Given the description of an element on the screen output the (x, y) to click on. 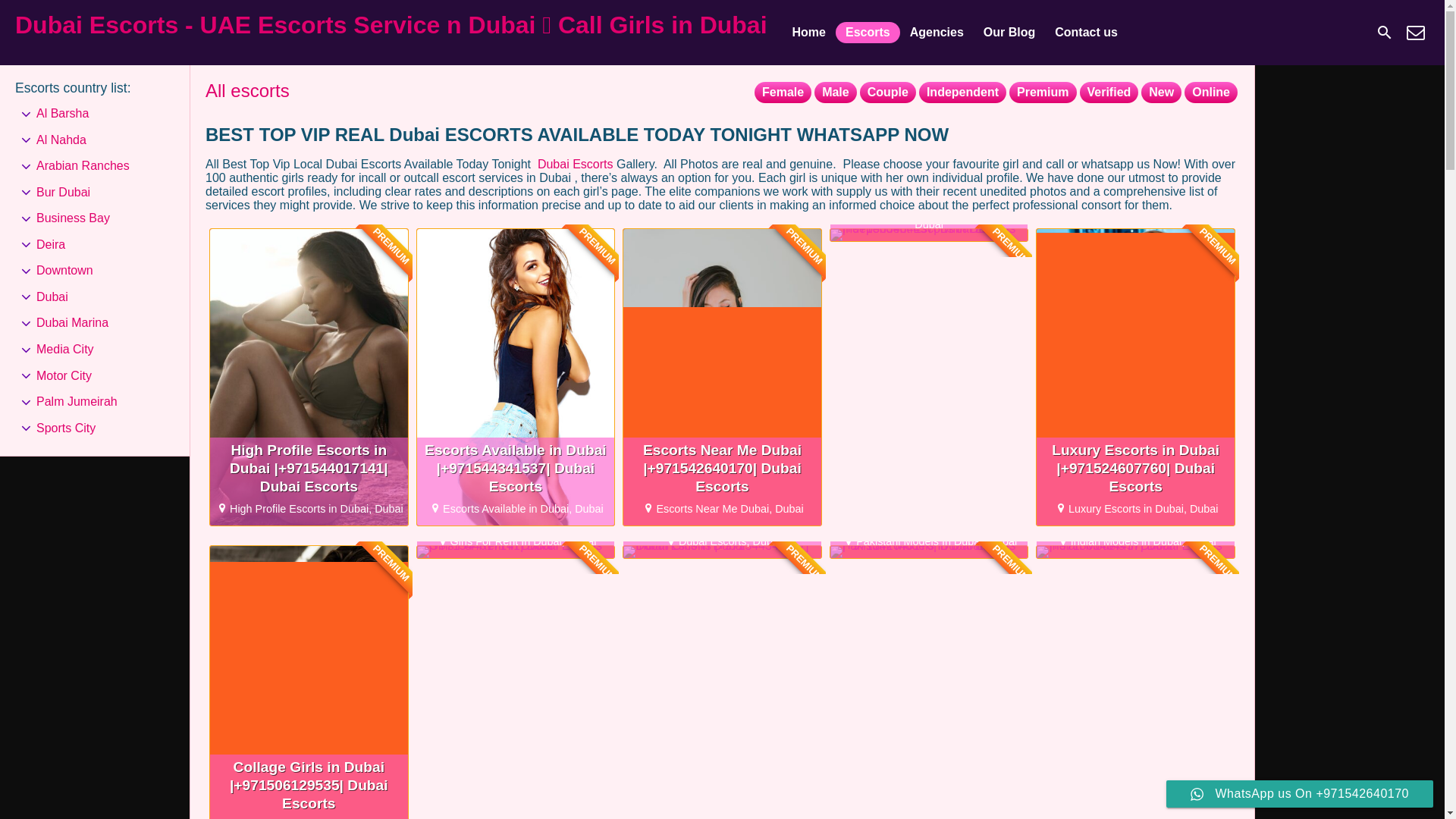
Home (928, 234)
Male (809, 33)
Search (835, 92)
Escorts (1384, 31)
Couple (867, 33)
New (887, 92)
Contact us (1160, 92)
Contact Us (1135, 551)
Female (1085, 33)
Verified (1415, 31)
Agencies (928, 551)
